Given the description of an element on the screen output the (x, y) to click on. 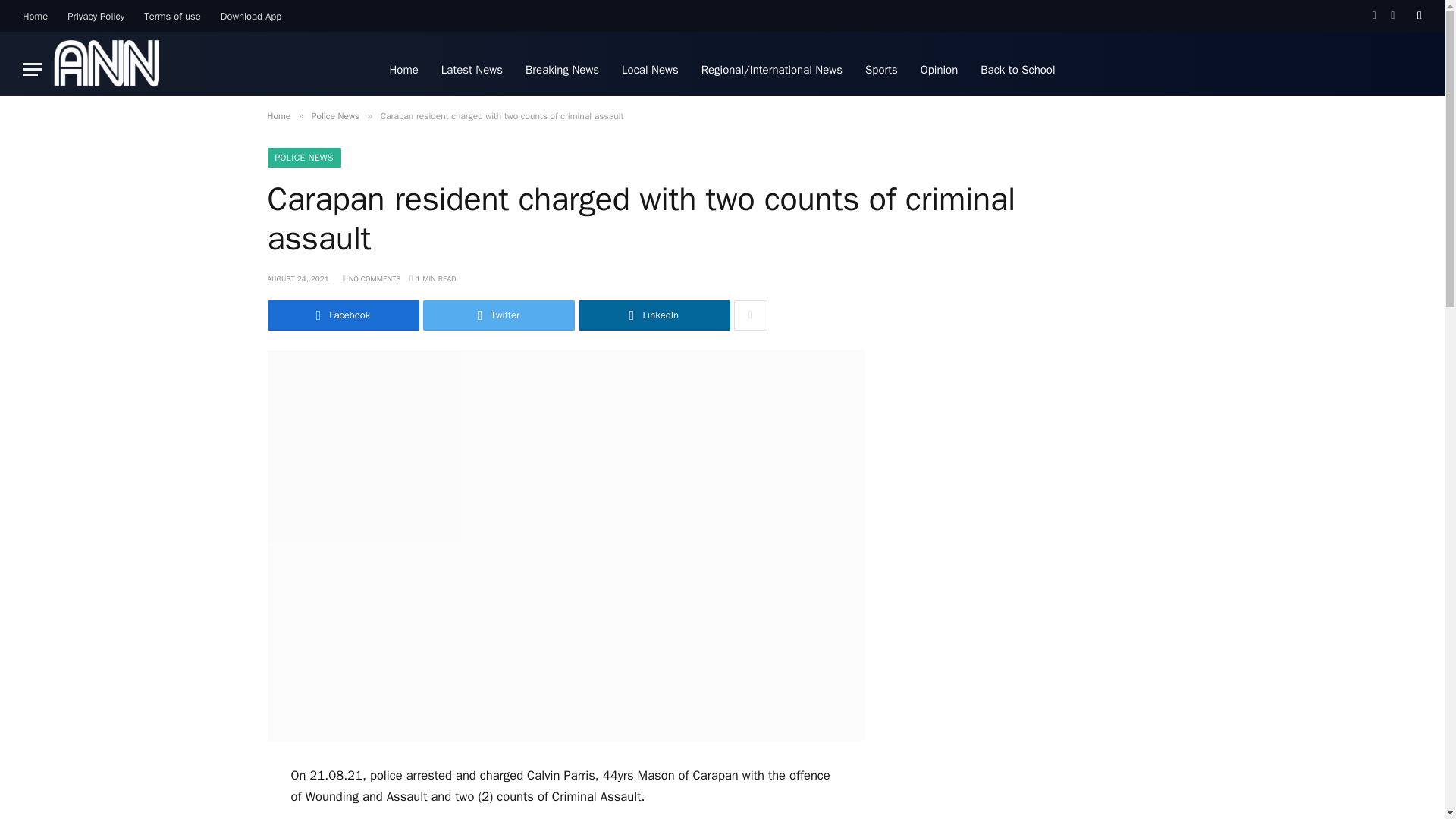
Twitter (499, 315)
Terms of use (172, 15)
Share on LinkedIn (653, 315)
Home (35, 15)
Latest News (471, 69)
Privacy Policy (95, 15)
Show More Social Sharing (750, 315)
LinkedIn (653, 315)
NO COMMENTS (371, 278)
